Given the description of an element on the screen output the (x, y) to click on. 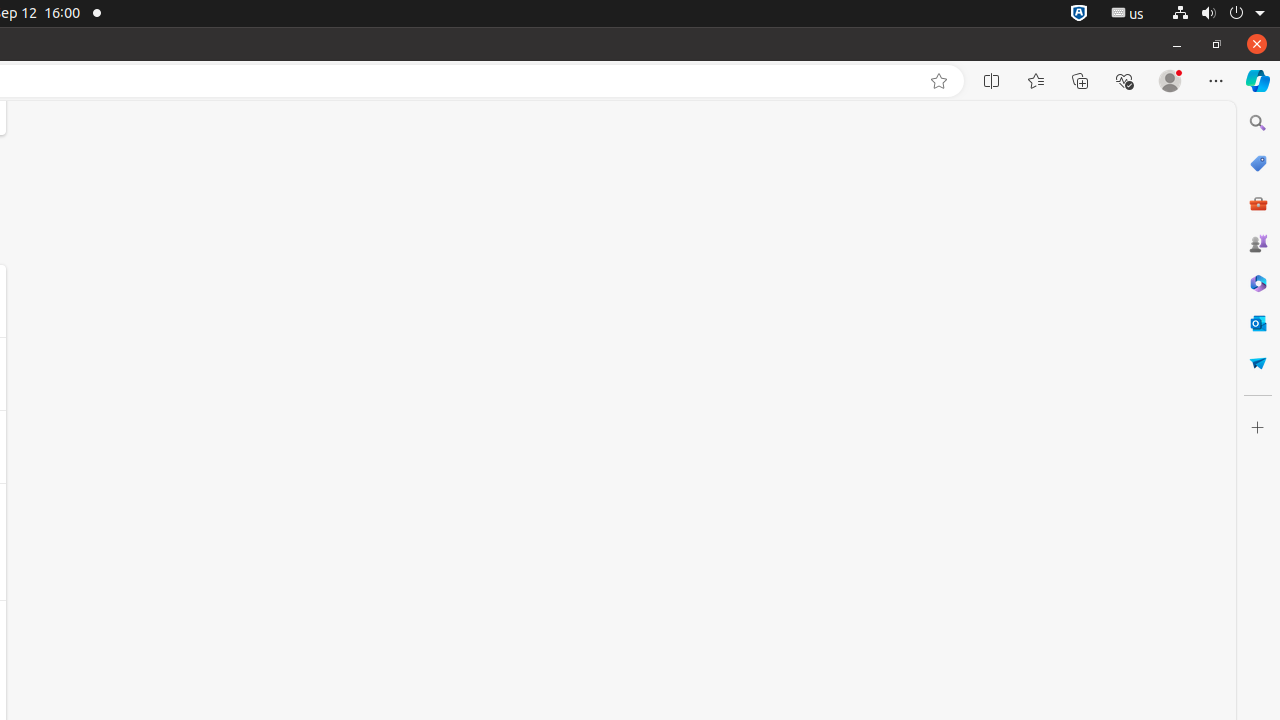
Games Element type: push-button (1258, 243)
Outlook Element type: push-button (1258, 323)
Favorites Element type: push-button (1036, 81)
System Element type: menu (1218, 13)
Tools Element type: push-button (1258, 202)
